Given the description of an element on the screen output the (x, y) to click on. 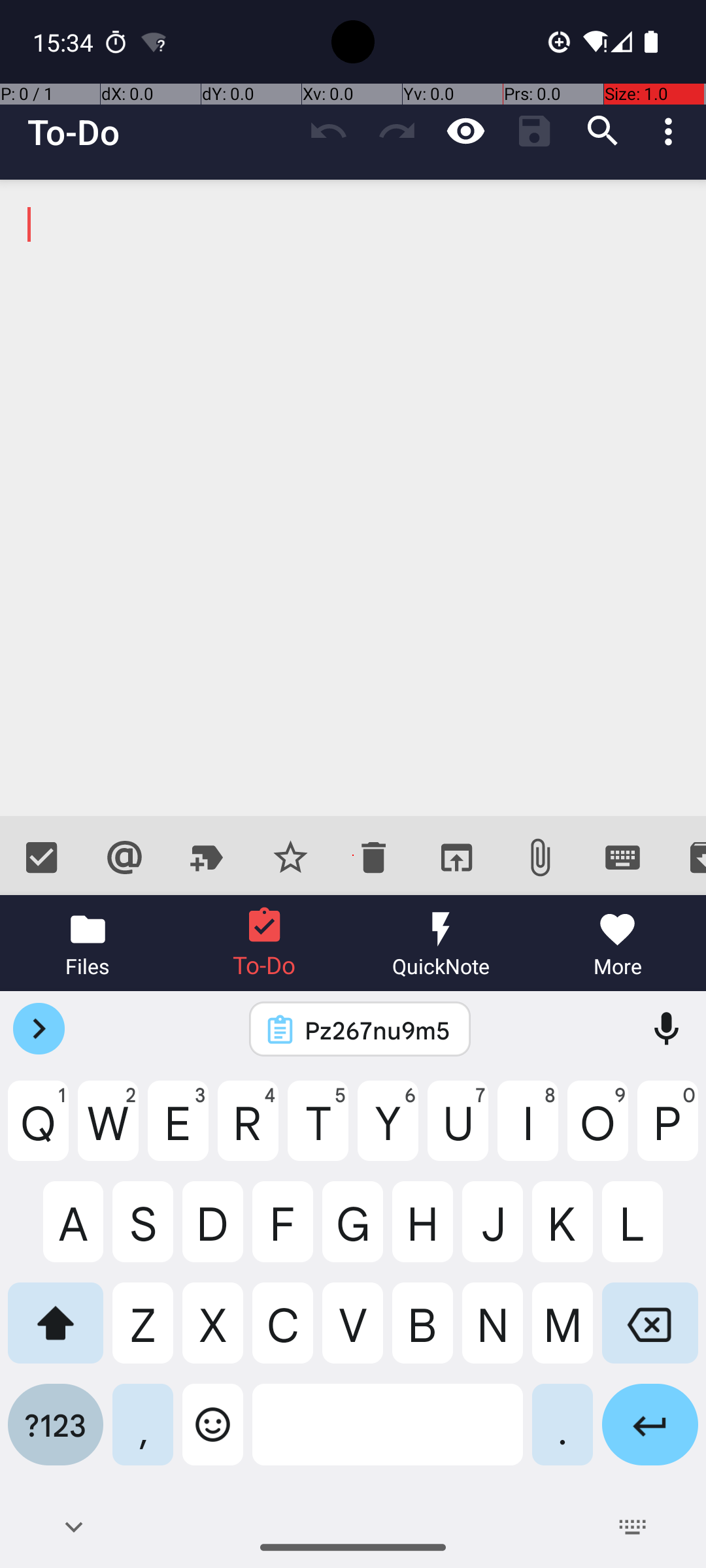
Pz267nu9m5 Element type: android.widget.TextView (376, 1029)
